Given the description of an element on the screen output the (x, y) to click on. 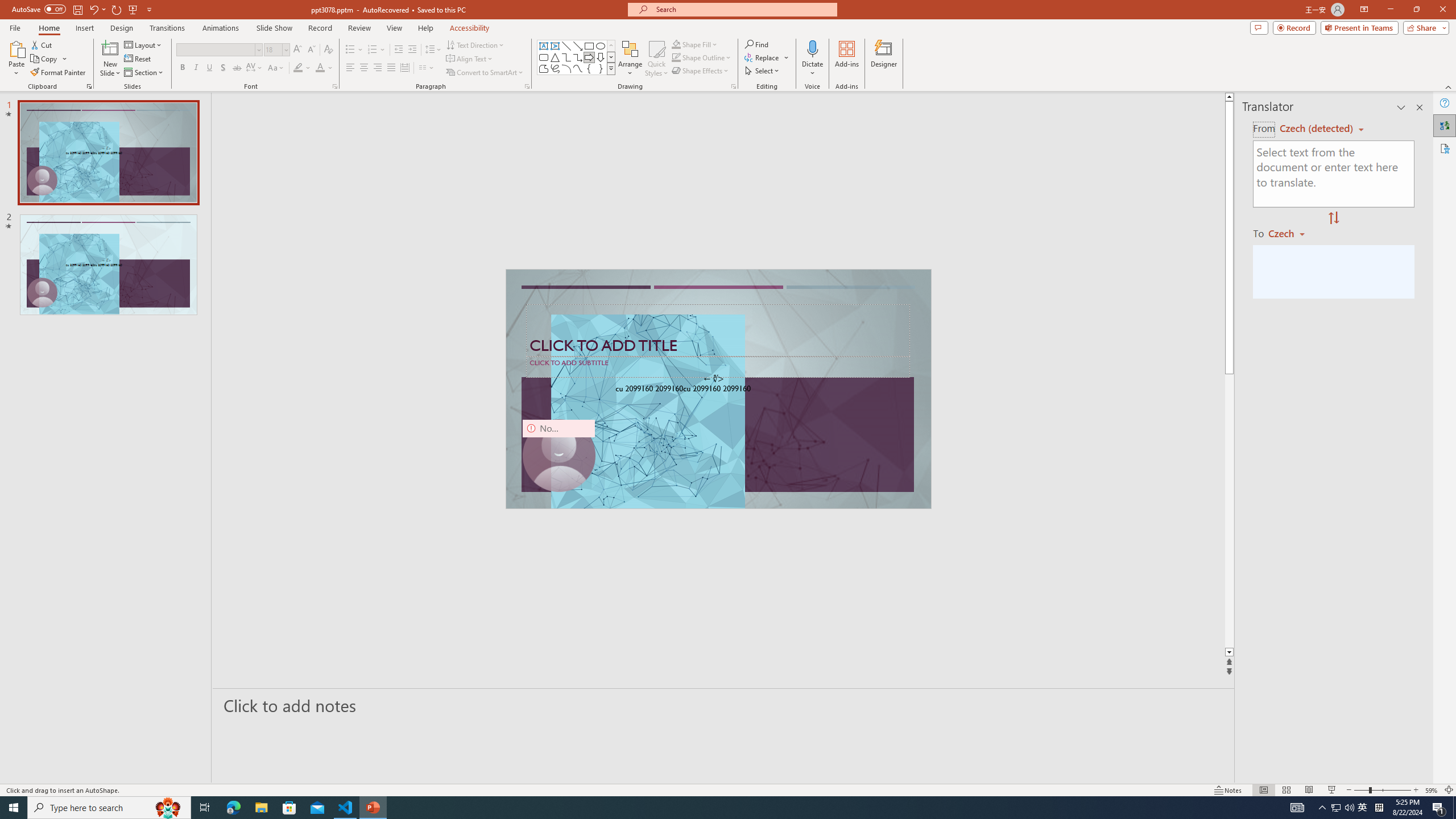
Camera 9, No camera detected. (558, 455)
